Given the description of an element on the screen output the (x, y) to click on. 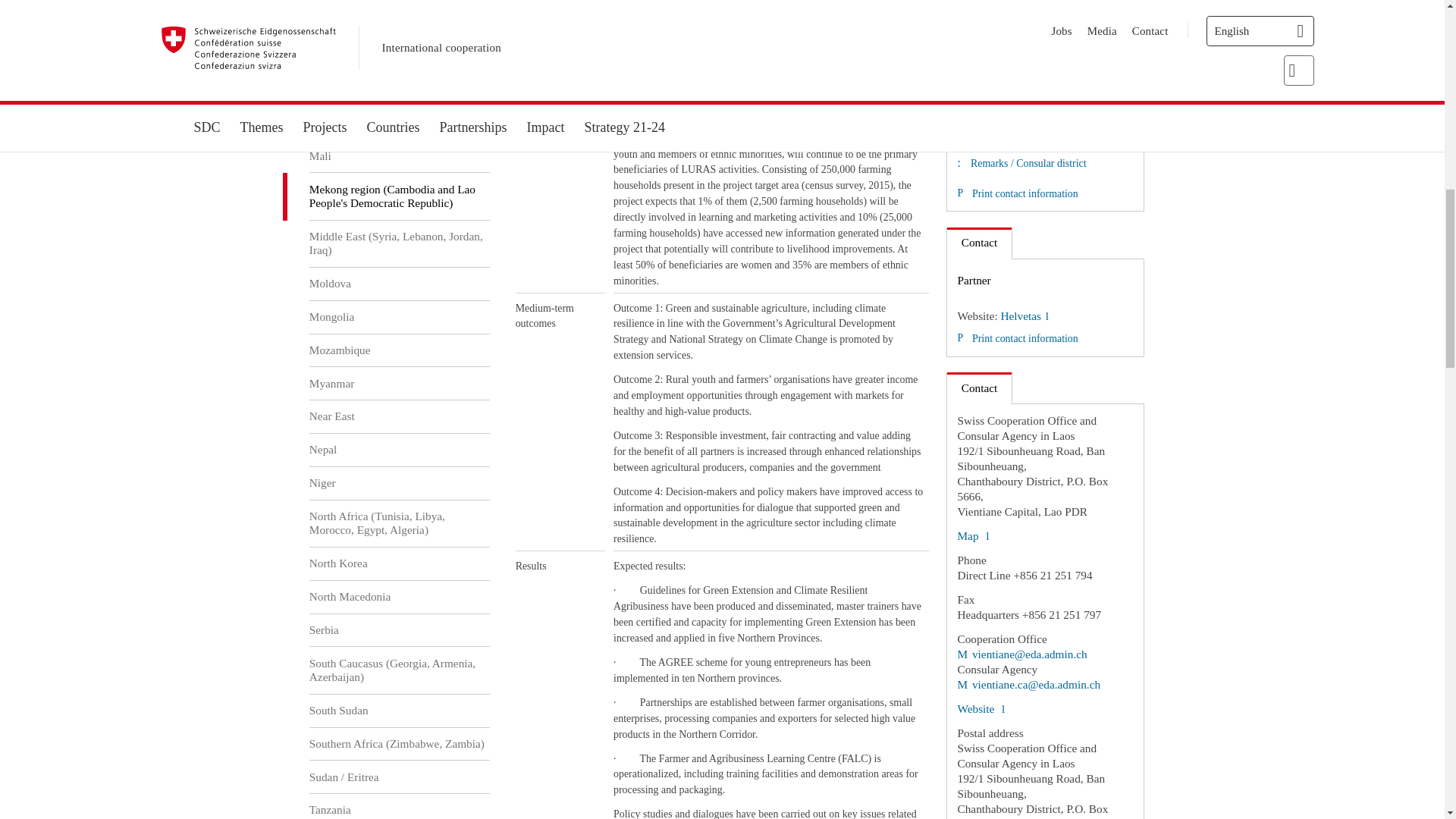
External Link (1028, 684)
External Link (972, 535)
External Link (1024, 315)
External Link (1021, 653)
External Link (980, 707)
External Link (1031, 129)
